Given the description of an element on the screen output the (x, y) to click on. 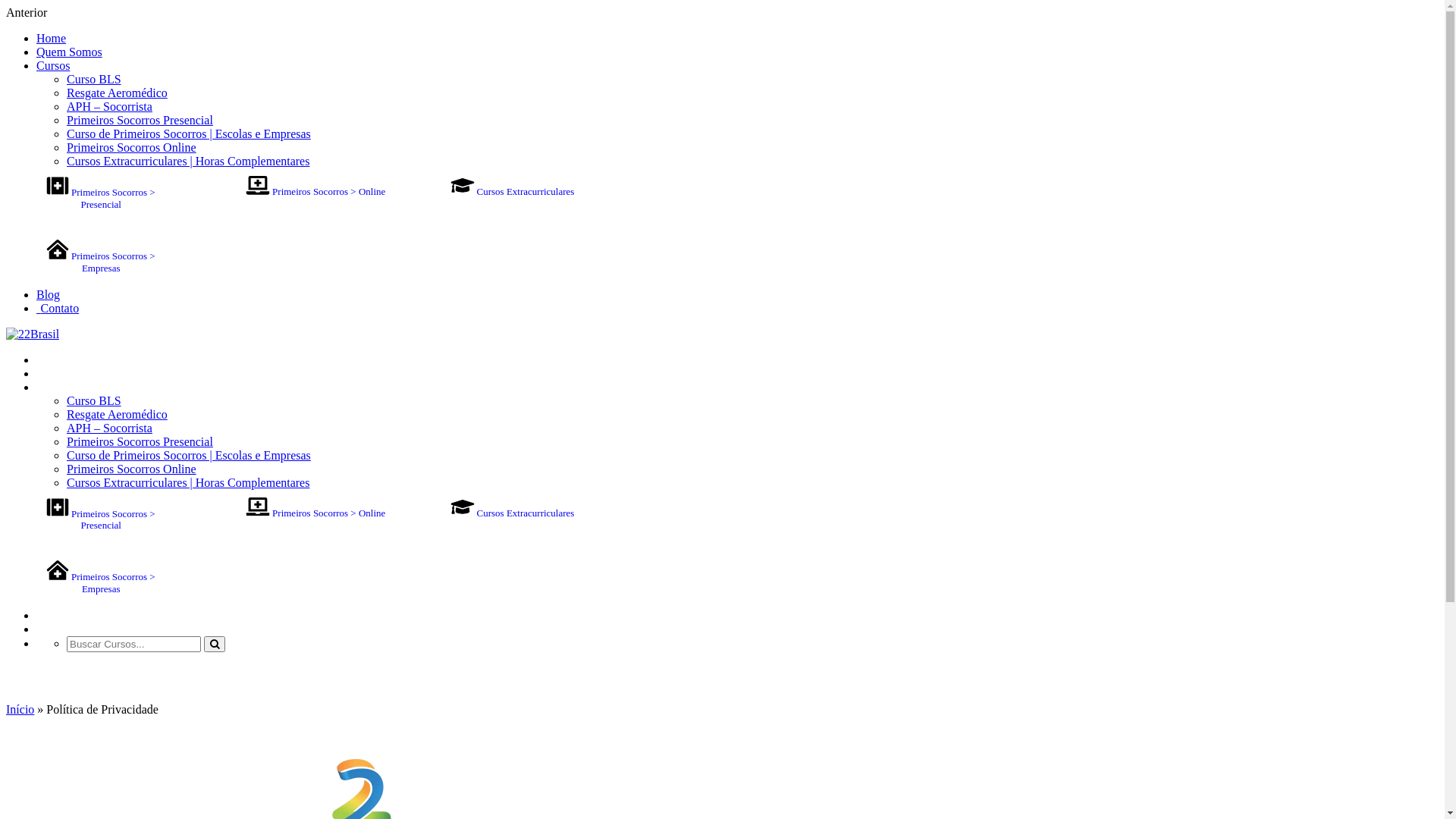
Cursos Extracurriculares Element type: text (512, 511)
Blog Element type: text (47, 614)
Primeiros Socorros Online Element type: text (131, 468)
Primeiros Socorros > Online Element type: text (315, 511)
logo 22 Element type: hover (32, 334)
Cursos Element type: text (52, 386)
Primeiros Socorros > Online Element type: text (315, 191)
Blog Element type: text (47, 294)
Primeiros Socorros > Presencial Element type: text (101, 198)
Contato Element type: text (57, 628)
Curso BLS Element type: text (93, 78)
Quem Somos Element type: text (69, 373)
Primeiros Socorros > Empresas Element type: text (101, 261)
Home Element type: text (50, 37)
Primeiros Socorros Online Element type: text (131, 147)
Cursos Extracurriculares | Horas Complementares Element type: text (187, 160)
Primeiros Socorros > Empresas Element type: text (101, 582)
Cursos Extracurriculares | Horas Complementares Element type: text (187, 482)
22Brasil - Cursos de Primeiros Socorros Element type: hover (32, 333)
Cursos Element type: text (52, 65)
Contato Element type: text (57, 307)
Quem Somos Element type: text (69, 51)
Curso de Primeiros Socorros | Escolas e Empresas Element type: text (188, 454)
Cursos Extracurriculares Element type: text (512, 191)
Primeiros Socorros Presencial Element type: text (139, 441)
Primeiros Socorros Presencial Element type: text (139, 119)
Curso BLS Element type: text (93, 400)
Primeiros Socorros > Presencial Element type: text (101, 518)
Home Element type: text (50, 359)
Curso de Primeiros Socorros | Escolas e Empresas Element type: text (188, 133)
